Given the description of an element on the screen output the (x, y) to click on. 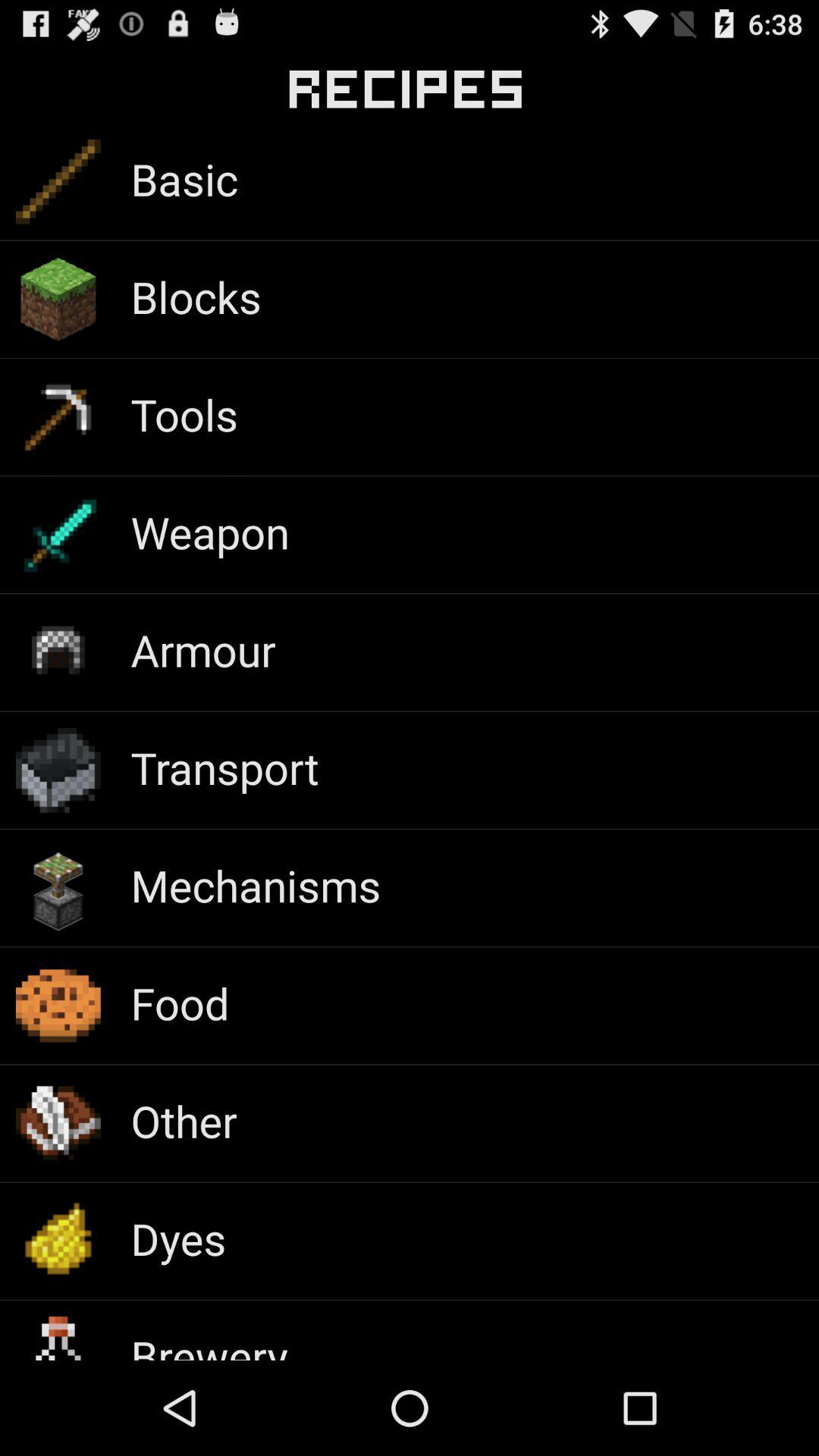
flip to the dyes app (178, 1238)
